Given the description of an element on the screen output the (x, y) to click on. 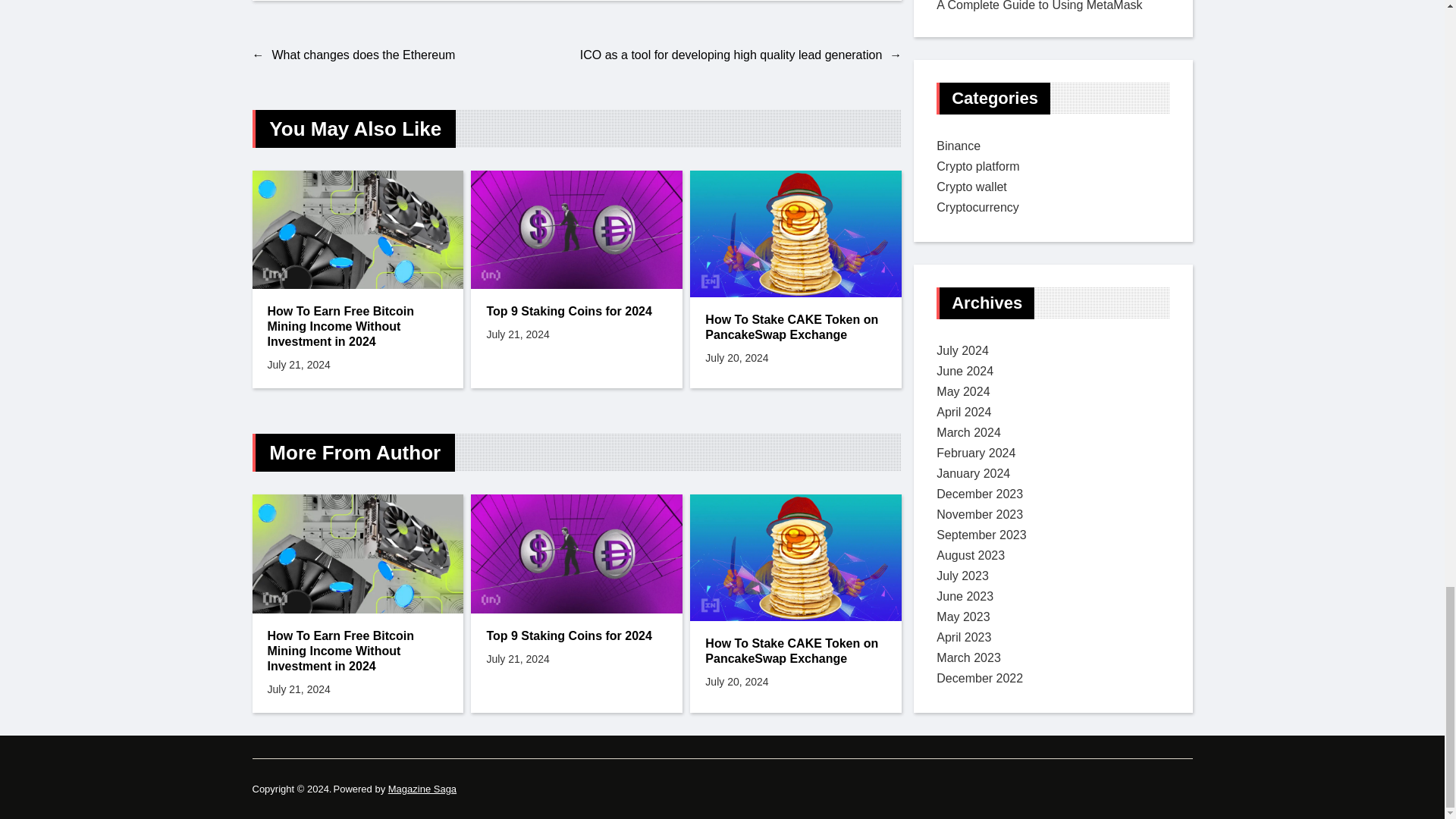
How To Stake CAKE Token on PancakeSwap Exchange (795, 327)
Top 9 Staking Coins for 2024 (576, 311)
Top 9 Staking Coins for 2024 (576, 635)
How To Stake CAKE Token on PancakeSwap Exchange (795, 651)
